Given the description of an element on the screen output the (x, y) to click on. 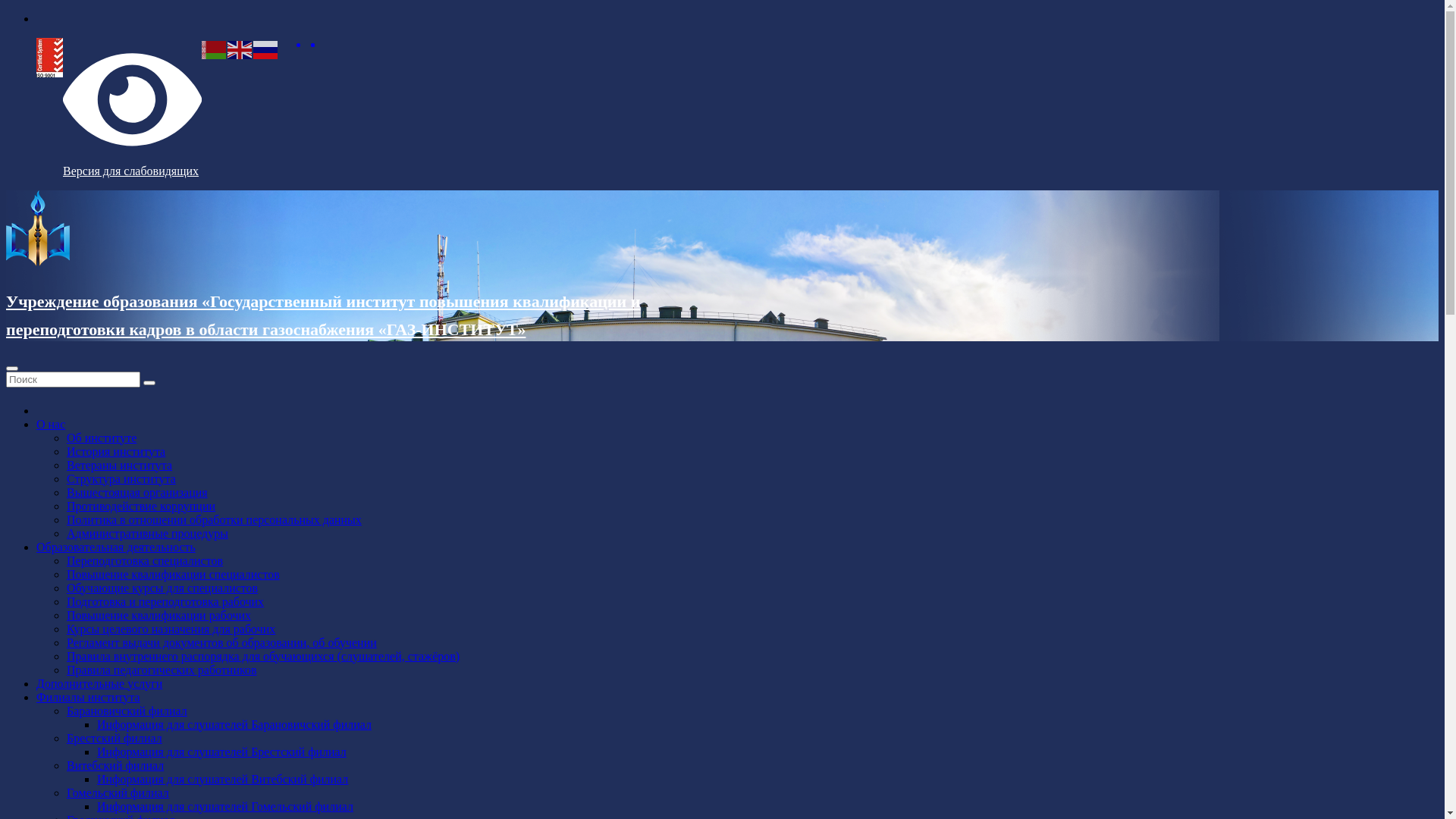
English Element type: hover (240, 48)
Belarusian Element type: hover (214, 48)
Russian Element type: hover (266, 48)
